Given the description of an element on the screen output the (x, y) to click on. 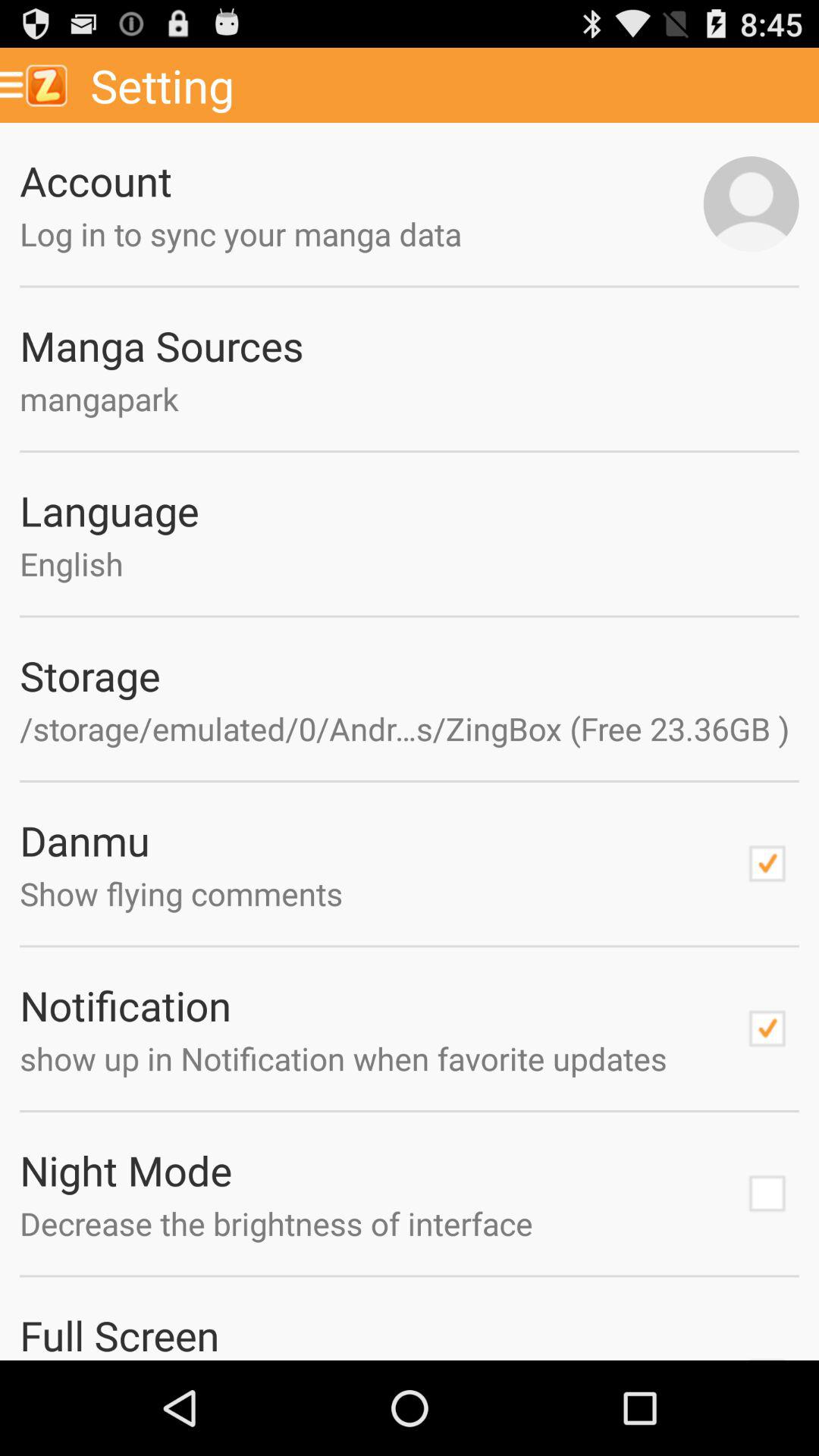
choose item above the english app (409, 510)
